Given the description of an element on the screen output the (x, y) to click on. 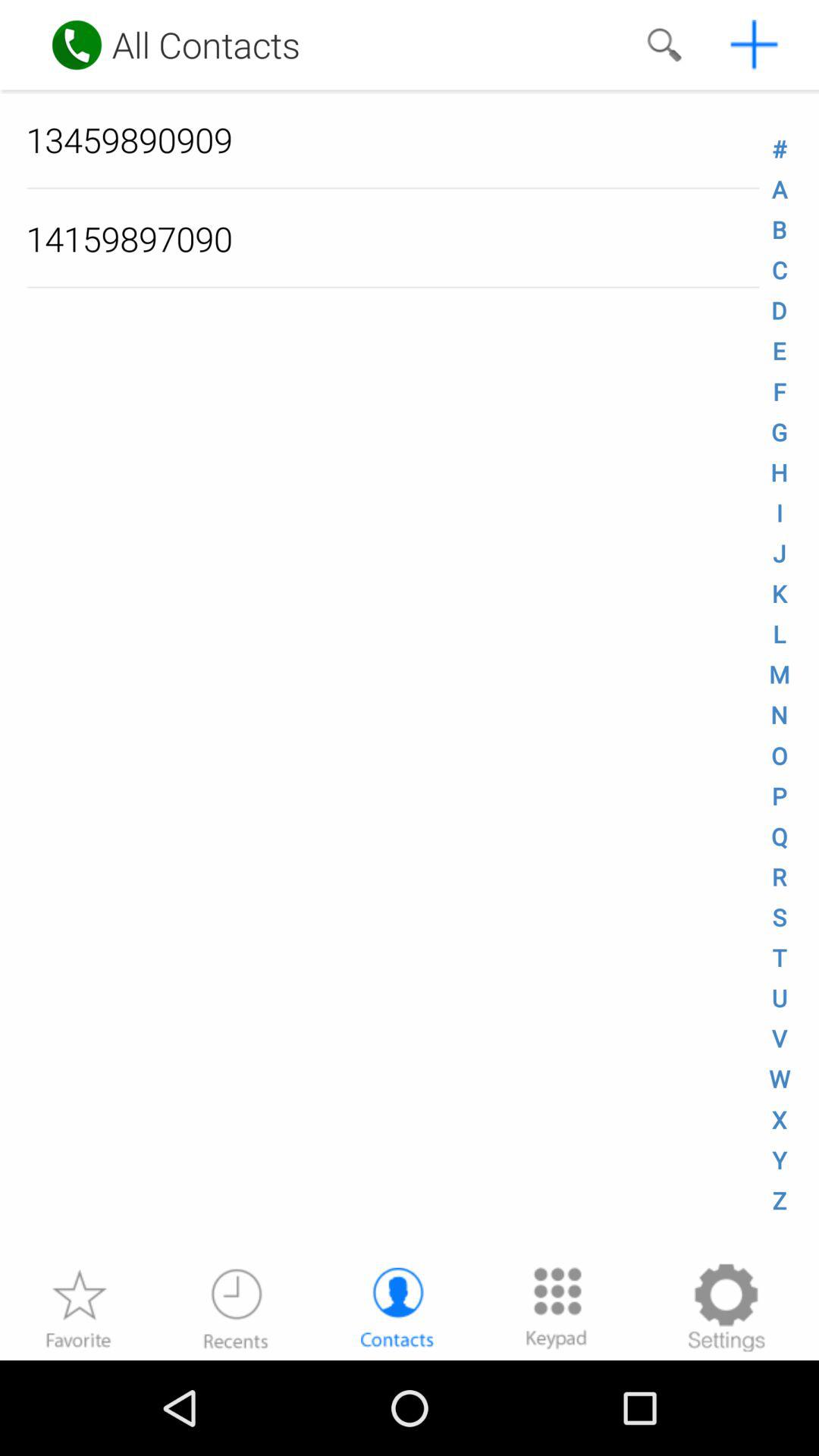
click the button on the top right side of the web page (754, 44)
click the button on the bottom left corner of the web page (77, 1307)
click the search button on the web page (664, 44)
click on the contacts at the bottom of the page (397, 1308)
click on settings at the bottom of the page (726, 1308)
